Given the description of an element on the screen output the (x, y) to click on. 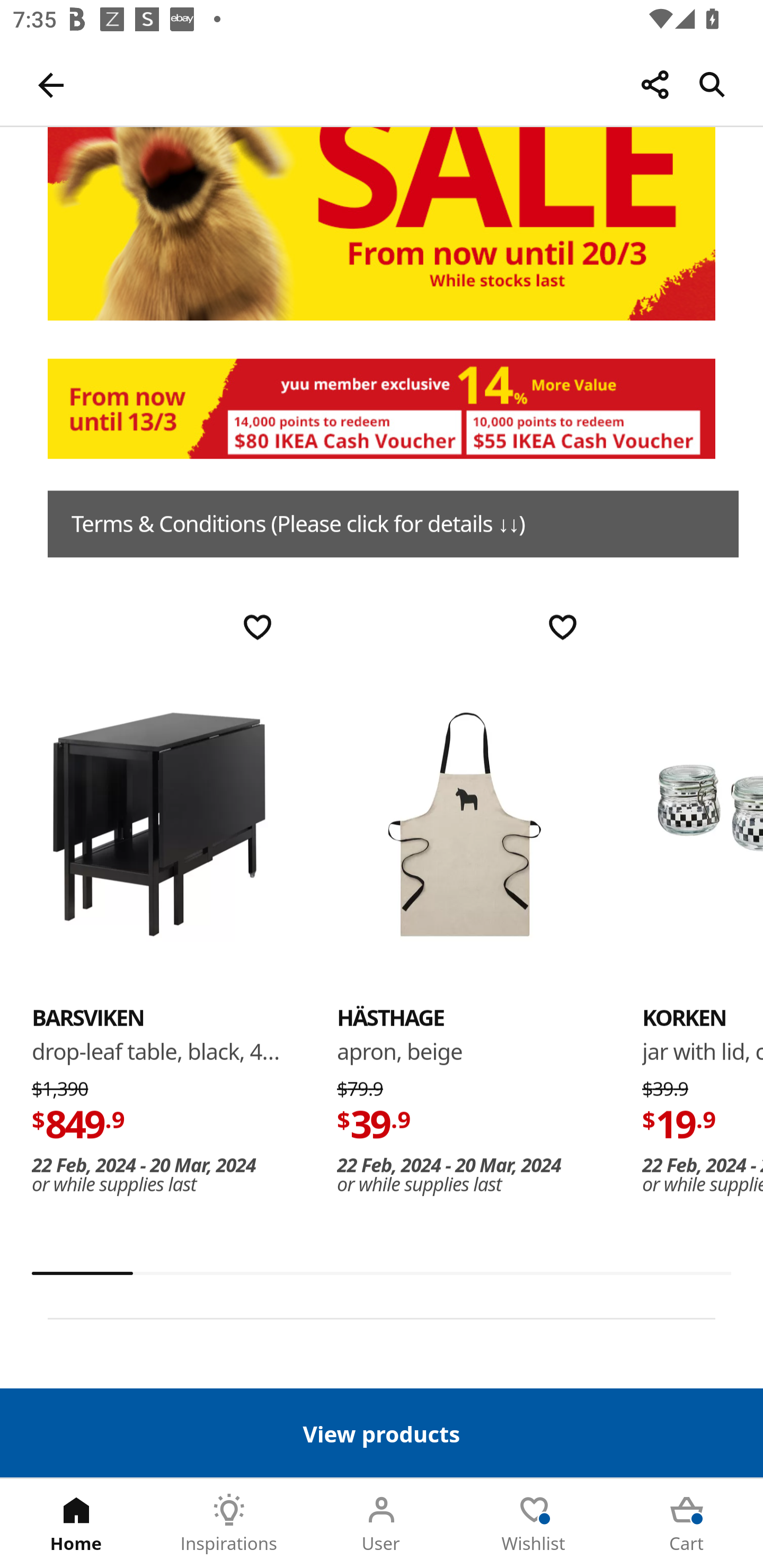
Terms & Conditions (Please click for details ↓↓) (393, 524)
BARSVIKEN (159, 823)
HÄSTHAGE (464, 823)
KORKEN (702, 823)
BARSVIKEN (88, 1017)
HÄSTHAGE (390, 1017)
KORKEN (684, 1017)
View products (381, 1432)
Home
Tab 1 of 5 (76, 1522)
Inspirations
Tab 2 of 5 (228, 1522)
User
Tab 3 of 5 (381, 1522)
Wishlist
Tab 4 of 5 (533, 1522)
Cart
Tab 5 of 5 (686, 1522)
